Given the description of an element on the screen output the (x, y) to click on. 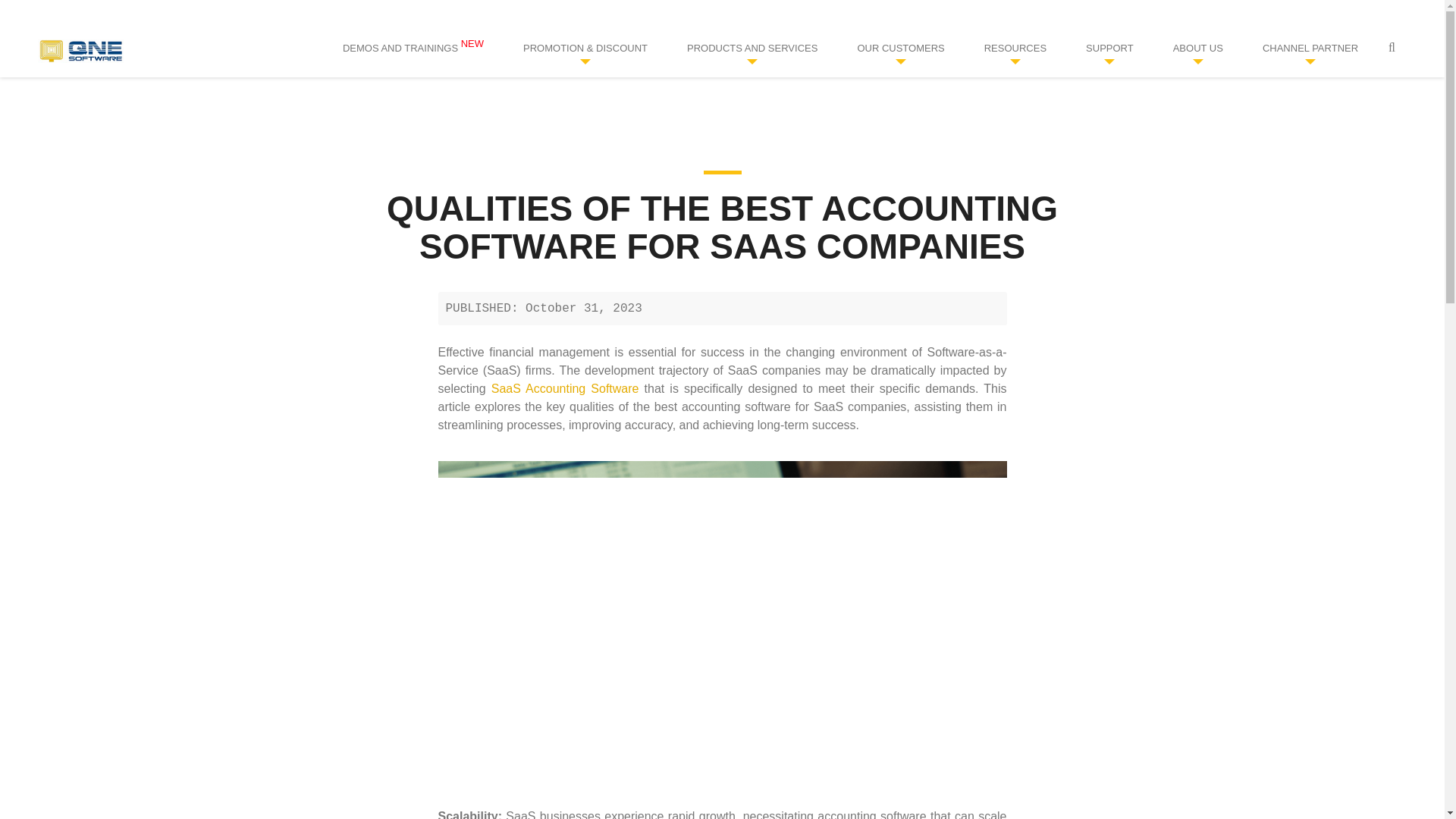
ABOUT US (1197, 48)
DEMOS AND TRAININGS NEW (413, 48)
CHANNEL PARTNER (1310, 48)
BACK (722, 161)
OUR CUSTOMERS (900, 48)
PRODUCTS AND SERVICES (751, 48)
SUPPORT (1109, 48)
RESOURCES (1015, 48)
SaaS Accounting Software (565, 388)
